Given the description of an element on the screen output the (x, y) to click on. 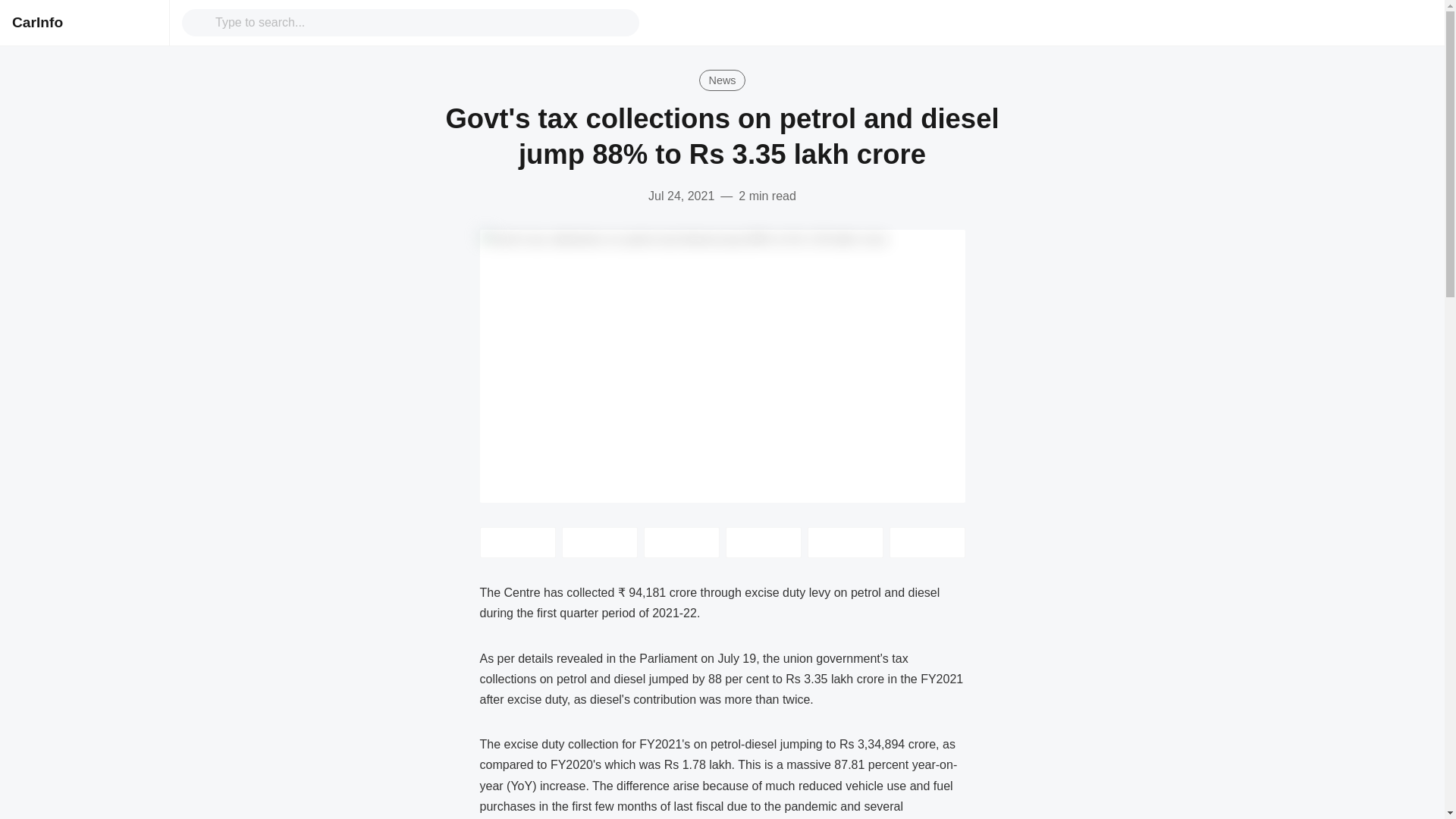
Search (421, 22)
Bookmark (925, 542)
Search (201, 22)
Share by email (762, 542)
Share on Linkedin (681, 542)
News (721, 79)
Share on Twitter (516, 542)
News (721, 79)
Copy to clipboard (844, 542)
CarInfo (36, 22)
